Given the description of an element on the screen output the (x, y) to click on. 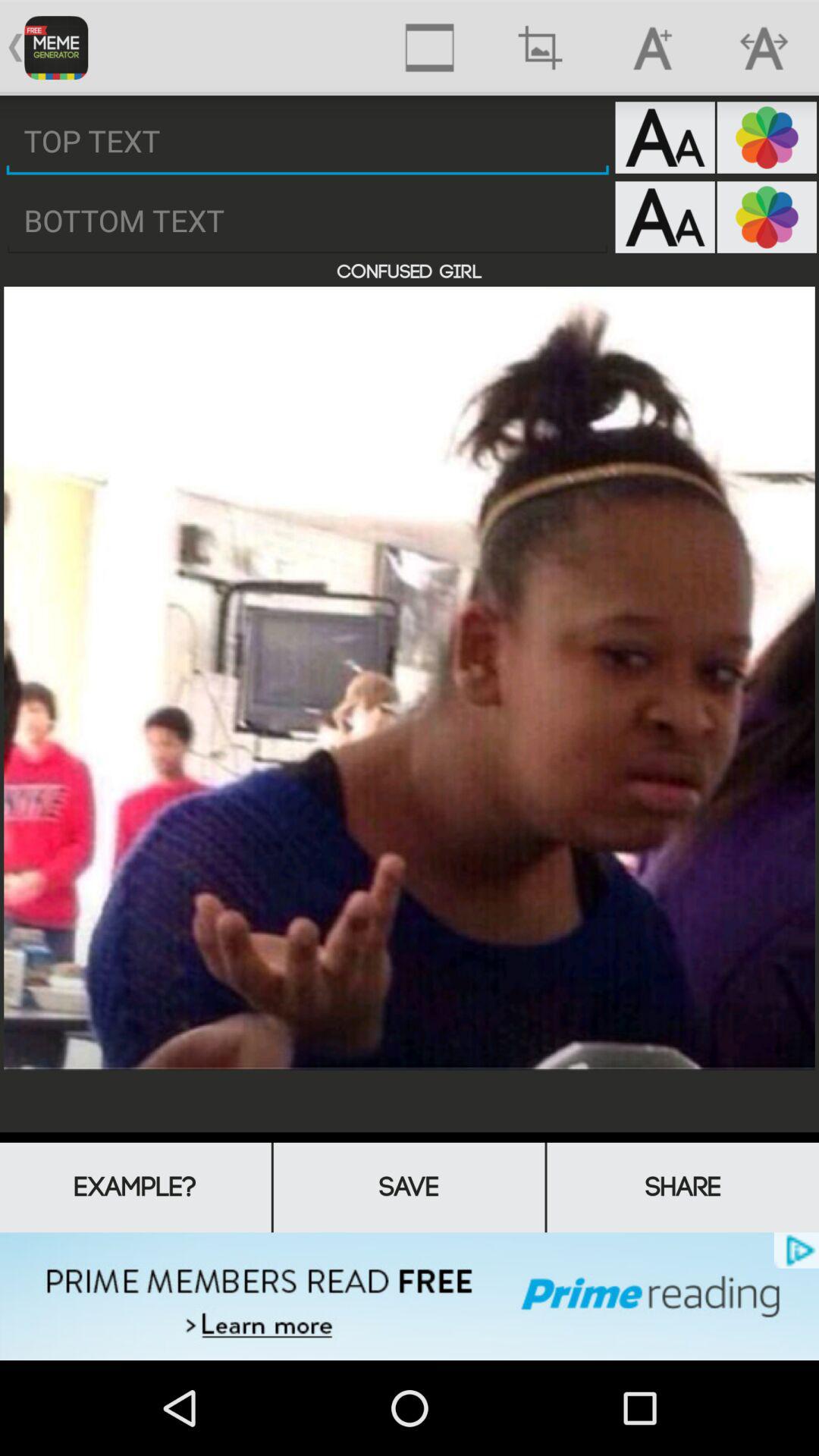
enter bottom text (307, 221)
